Given the description of an element on the screen output the (x, y) to click on. 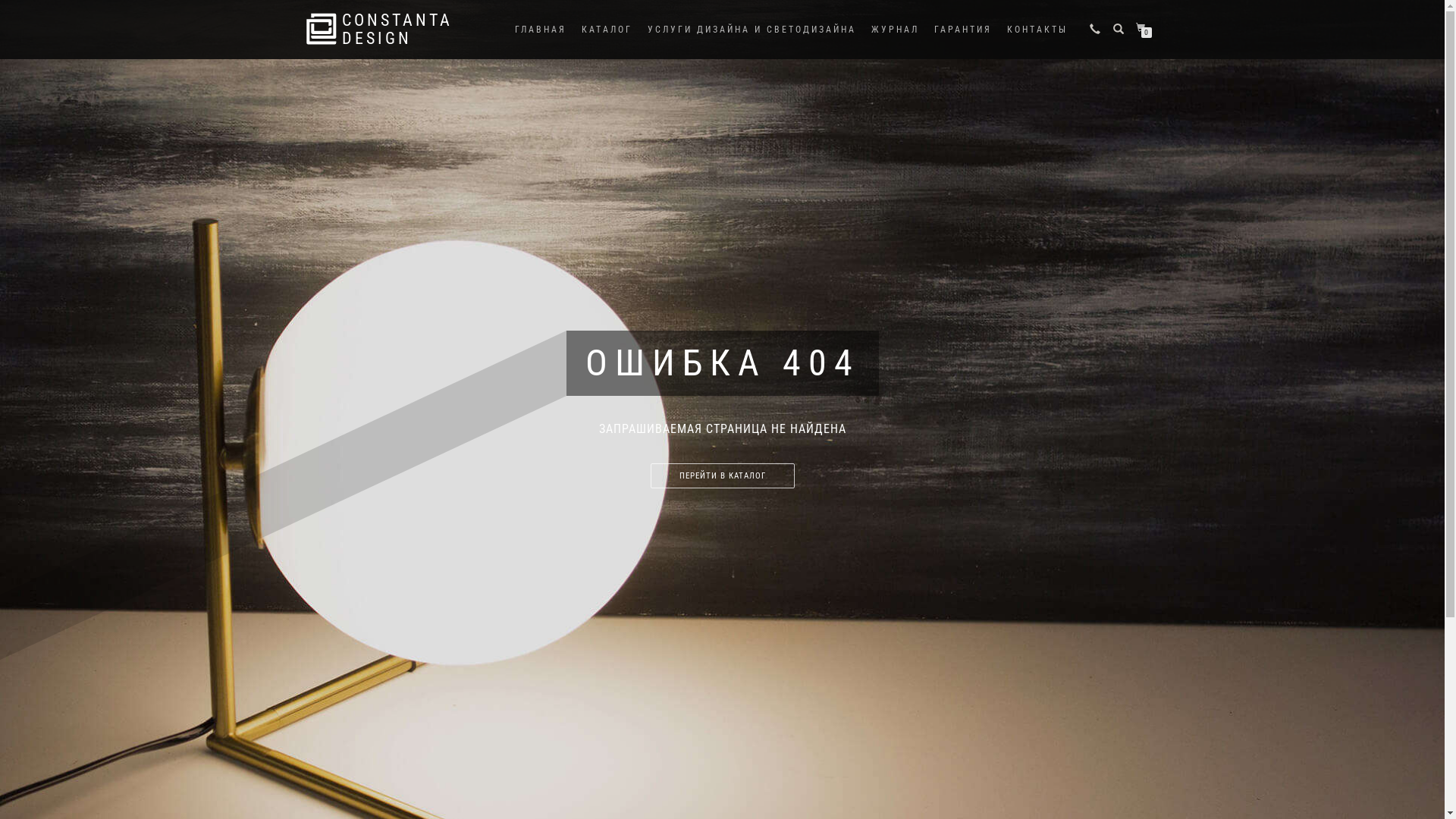
0 Element type: text (1143, 27)
CONSTANTA
DESIGN Element type: text (396, 29)
